Given the description of an element on the screen output the (x, y) to click on. 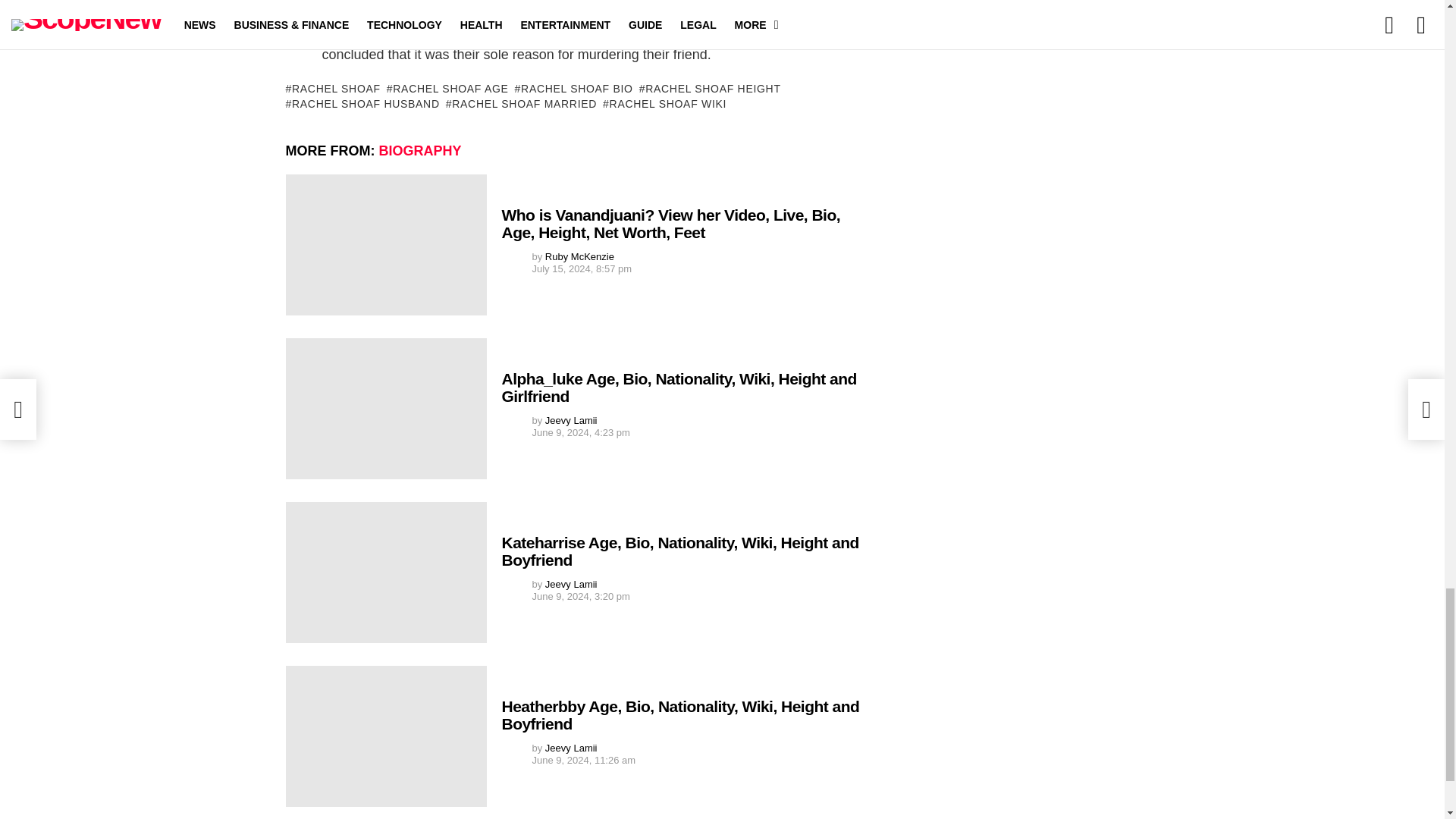
RACHEL SHOAF MARRIED (520, 103)
RACHEL SHOAF HUSBAND (362, 103)
RACHEL SHOAF WIKI (664, 103)
Ruby McKenzie (579, 256)
RACHEL SHOAF (332, 88)
RACHEL SHOAF HEIGHT (709, 88)
Posts by Ruby McKenzie (579, 256)
RACHEL SHOAF BIO (574, 88)
Posts by Jeevy Lamii (570, 419)
Posts by Jeevy Lamii (570, 583)
Heatherbby Age, Bio, Nationality, Wiki, Height and Boyfriend (385, 735)
Posts by Jeevy Lamii (570, 747)
RACHEL SHOAF AGE (447, 88)
BIOGRAPHY (419, 150)
